Given the description of an element on the screen output the (x, y) to click on. 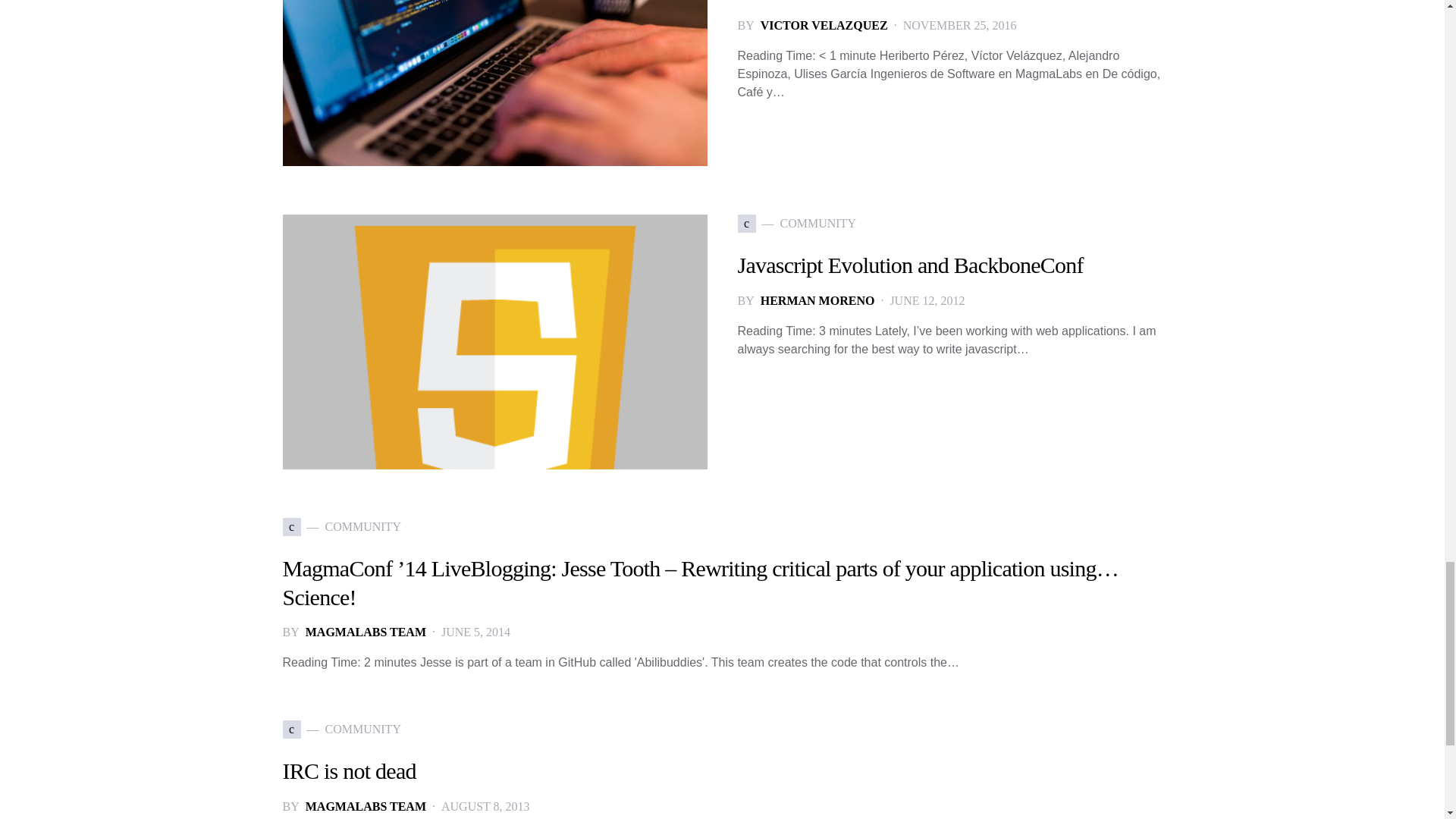
View all posts by MagmaLabs Team (365, 806)
View all posts by MagmaLabs Team (365, 632)
View all posts by Herman Moreno (817, 300)
View all posts by Victor Velazquez (824, 25)
